Given the description of an element on the screen output the (x, y) to click on. 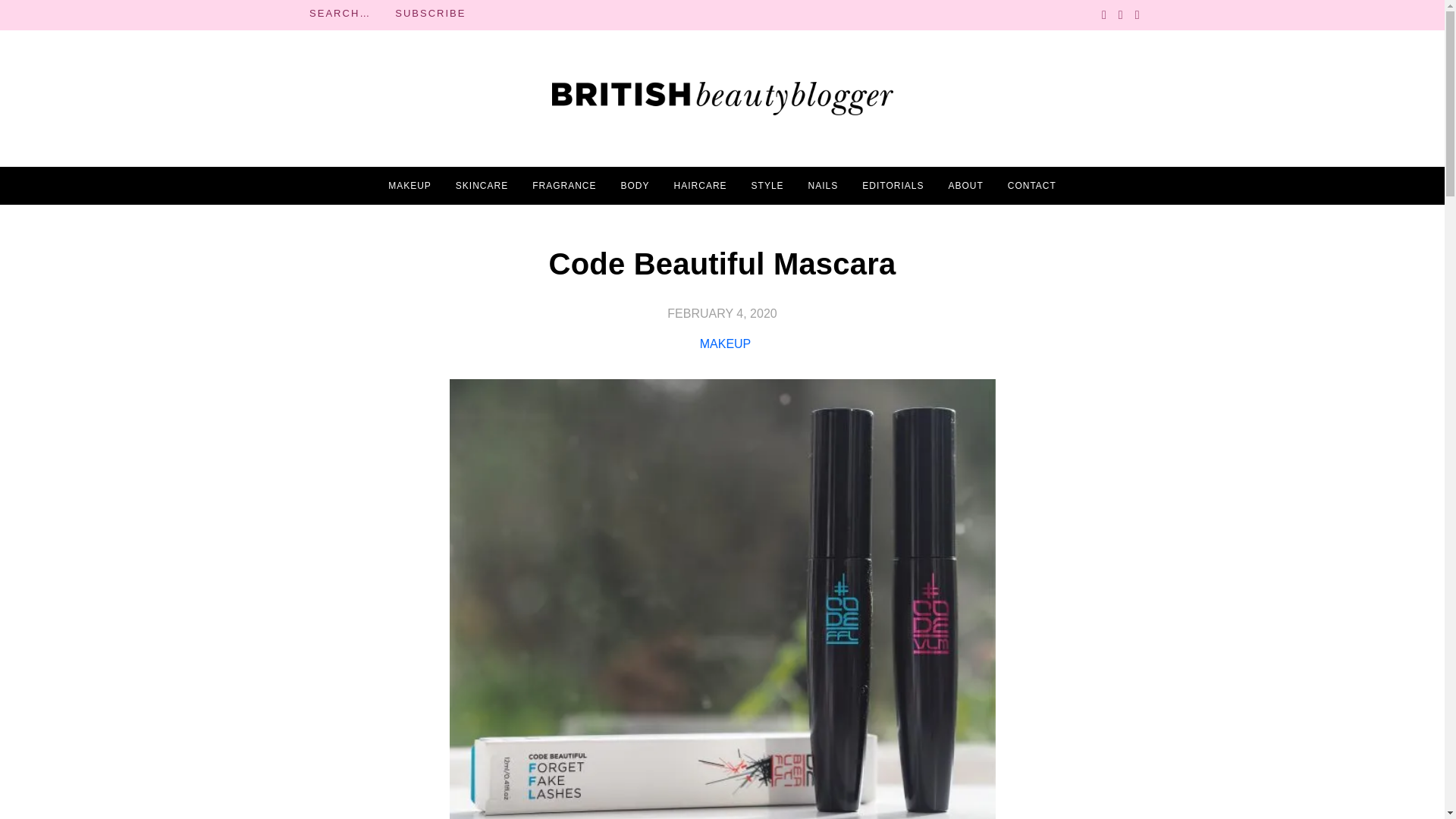
BODY (635, 185)
MAKEUP (409, 185)
HAIRCARE (700, 185)
CONTACT (1032, 185)
NAILS (823, 185)
MAKEUP (725, 343)
EDITORIALS (892, 185)
ABOUT (964, 185)
STYLE (767, 185)
SUBSCRIBE (429, 13)
FRAGRANCE (563, 185)
SKINCARE (481, 185)
